Given the description of an element on the screen output the (x, y) to click on. 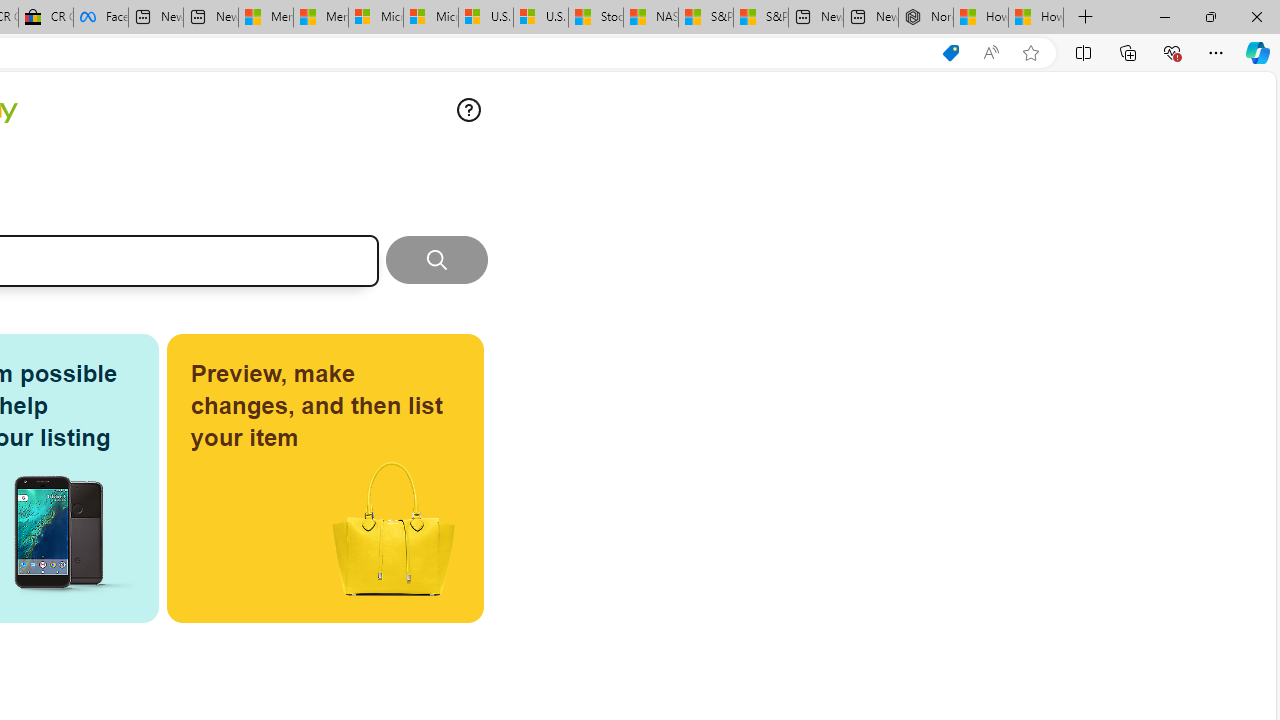
S&P 500, Nasdaq end lower, weighed by Nvidia dip | Watch (760, 17)
How to Use a Monitor With Your Closed Laptop (1035, 17)
Facebook (100, 17)
Comment about your experience on this page. (468, 110)
